Given the description of an element on the screen output the (x, y) to click on. 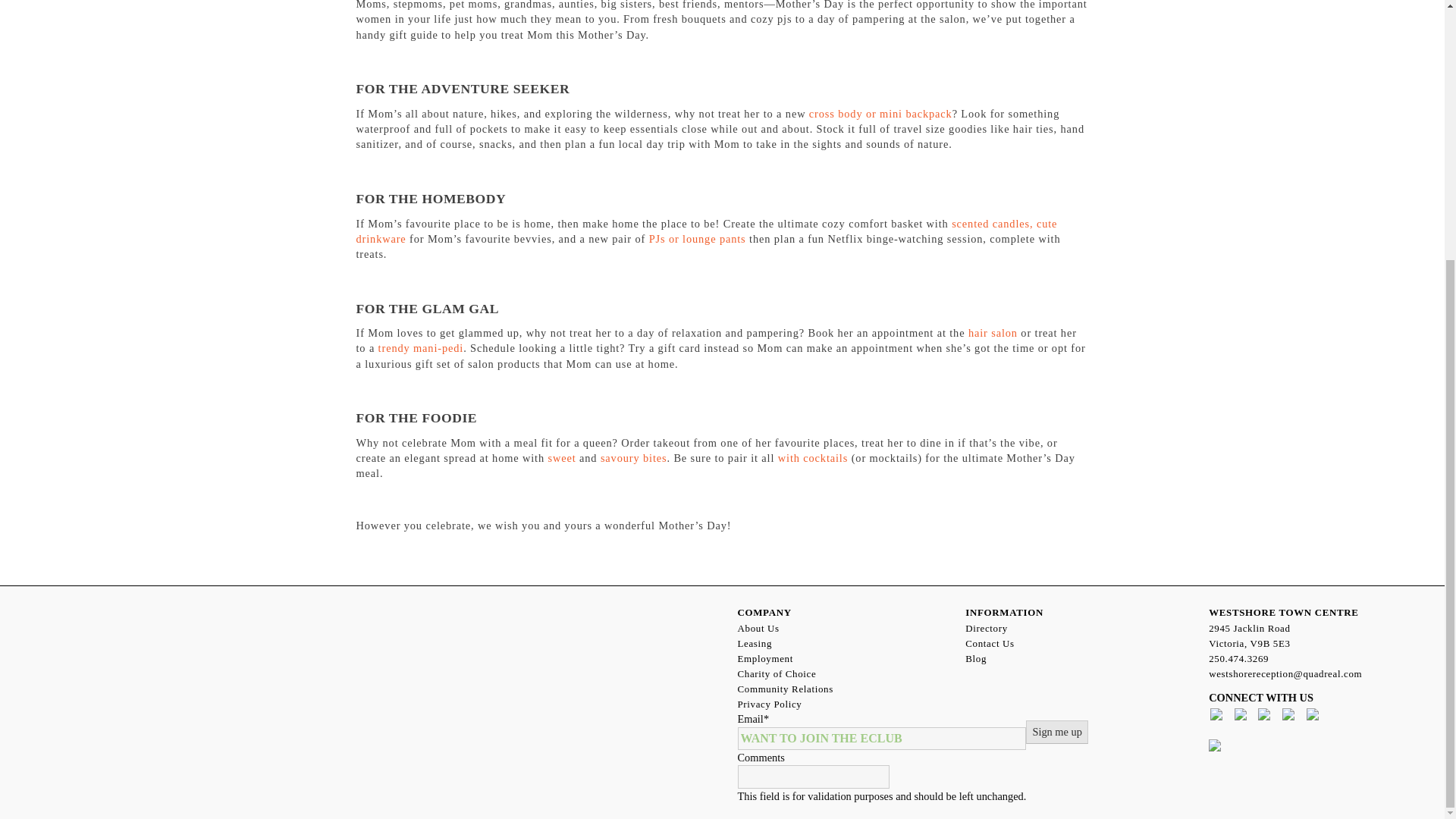
PJs or lounge pants (697, 238)
trendy mani-pedi (421, 347)
scented candles, cute drinkware (707, 230)
hair salon (992, 332)
savoury bites (632, 458)
with cocktails (812, 458)
cross body or mini backpack (880, 113)
sweet (561, 458)
Sign me up (1056, 731)
